Given the description of an element on the screen output the (x, y) to click on. 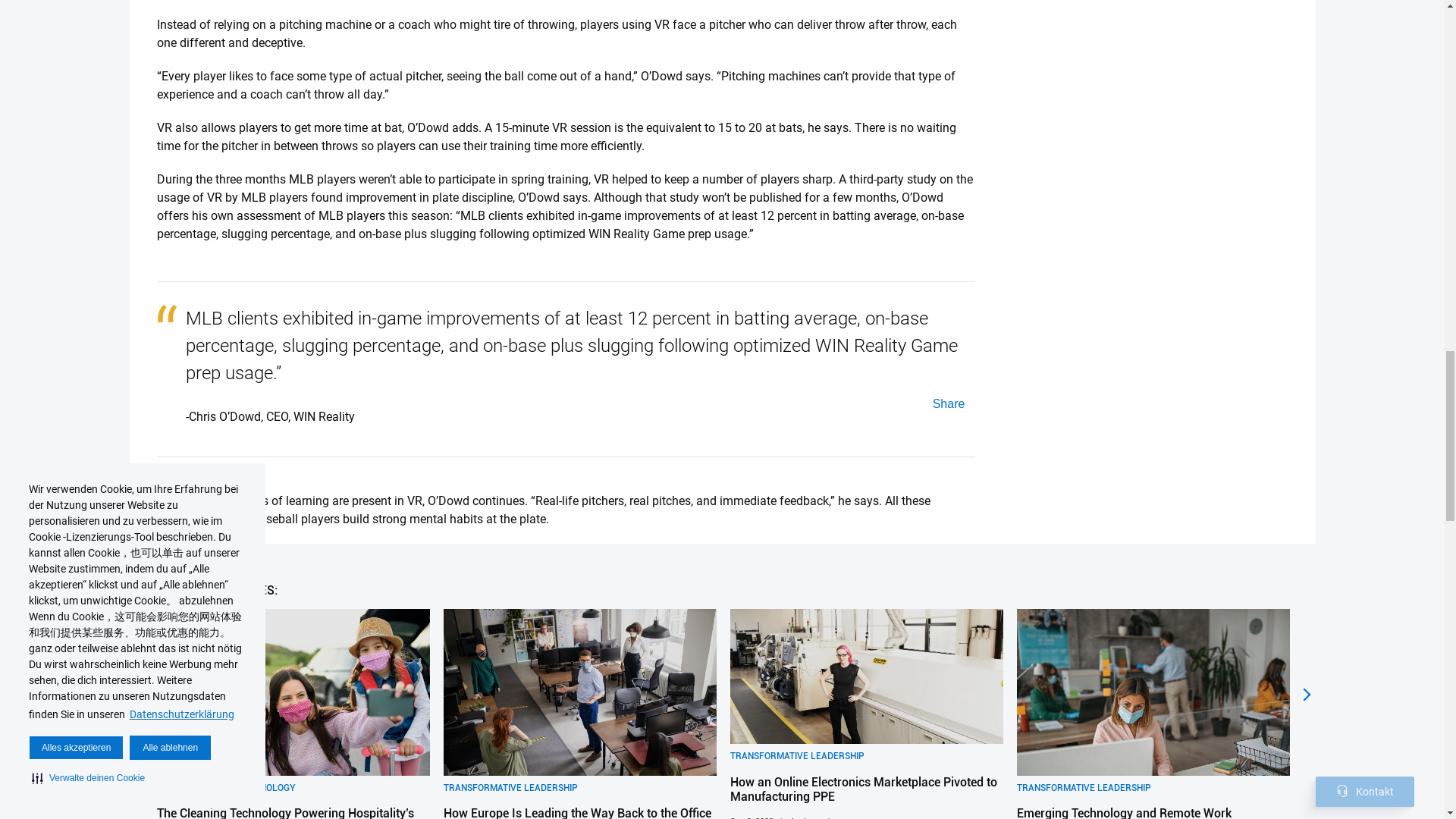
twitter (947, 403)
